Given the description of an element on the screen output the (x, y) to click on. 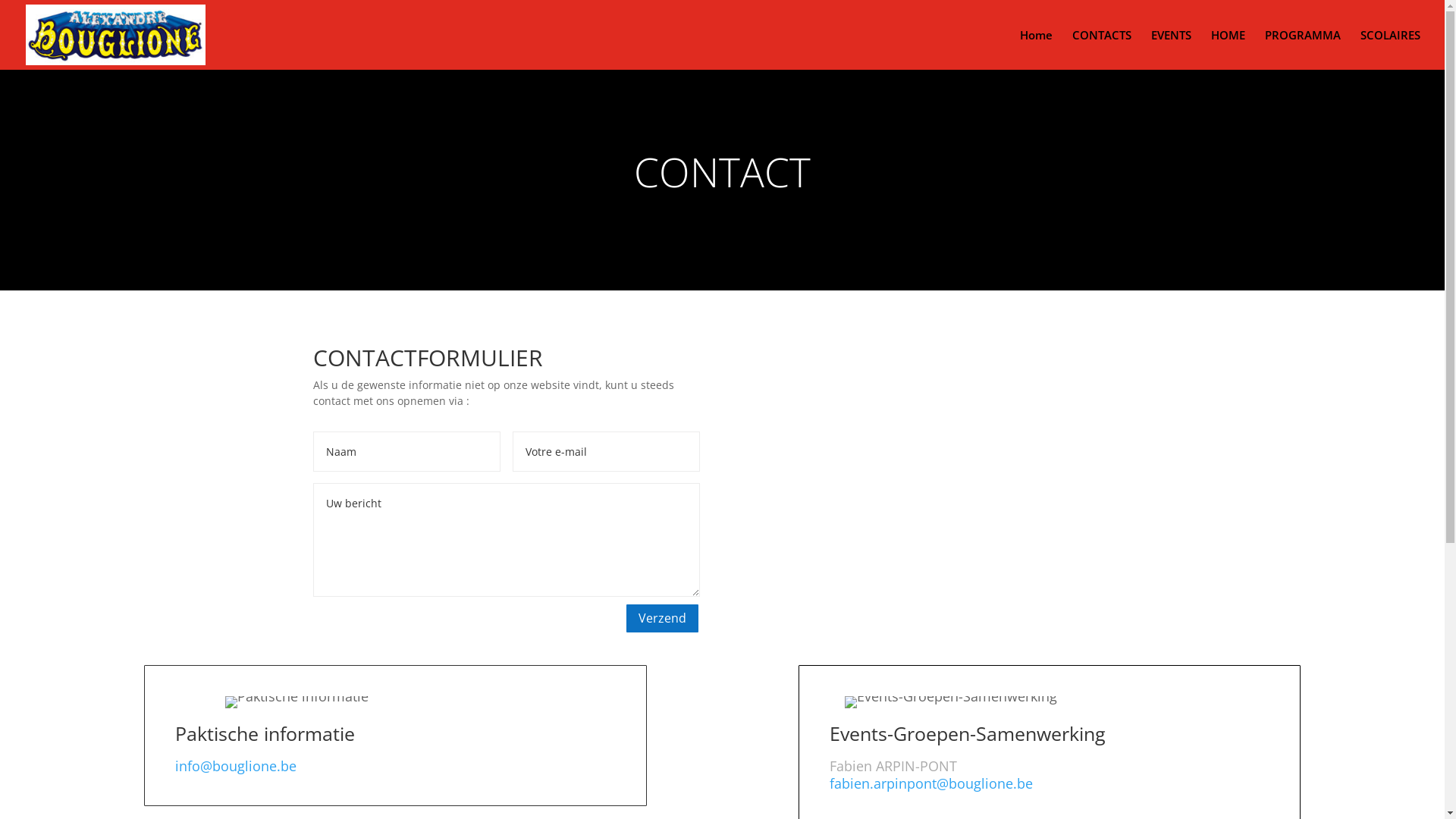
CONTACTS Element type: text (1101, 49)
HOME Element type: text (1228, 49)
SCOLAIRES Element type: text (1390, 49)
EVENTS Element type: text (1171, 49)
info@bouglione.be Element type: text (235, 765)
Verzend Element type: text (661, 617)
Home Element type: text (1035, 49)
PROGRAMMA Element type: text (1302, 49)
fabien.arpinpont@bouglione.be Element type: text (930, 783)
